Given the description of an element on the screen output the (x, y) to click on. 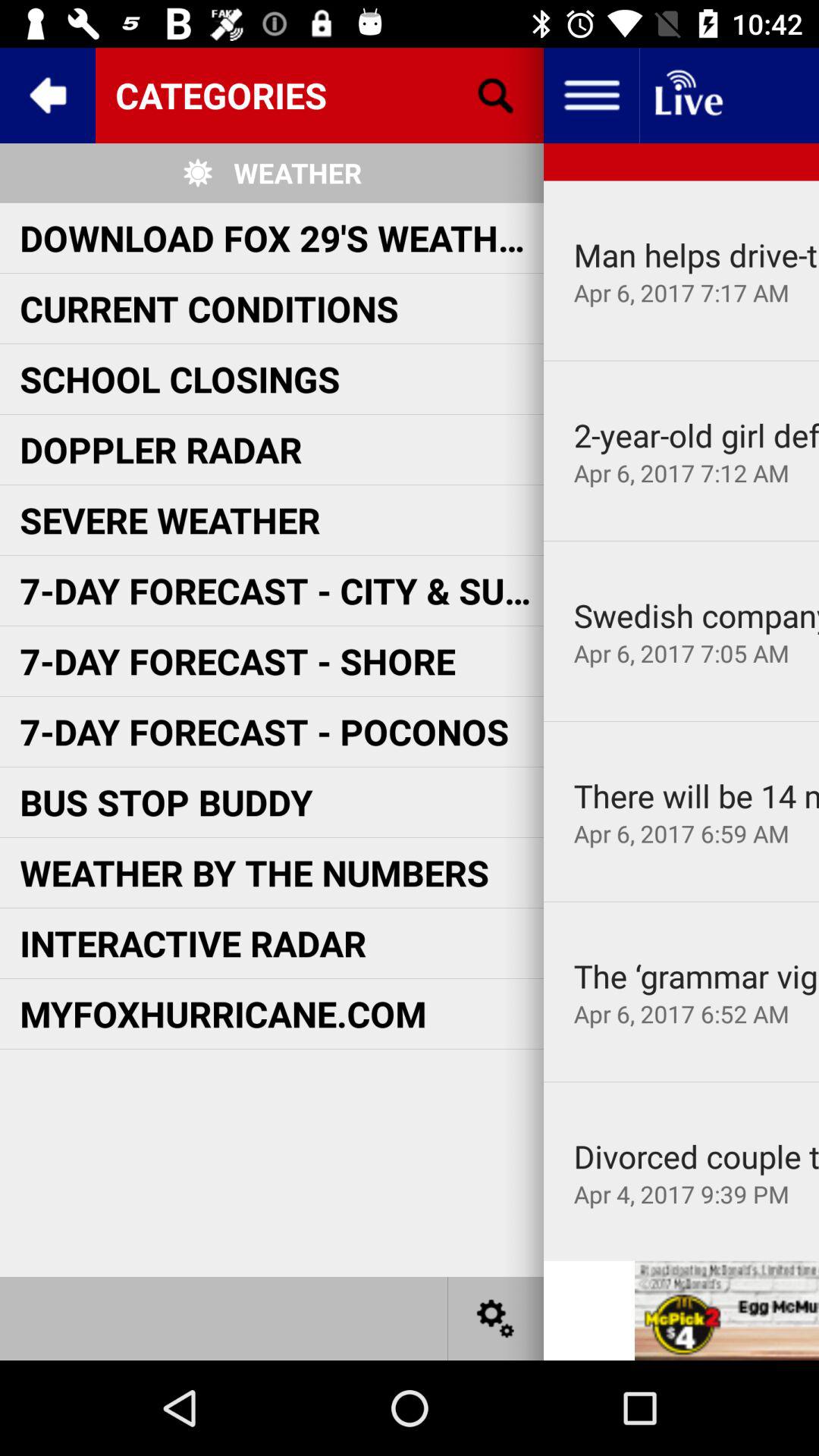
embedded advert (726, 1310)
